Given the description of an element on the screen output the (x, y) to click on. 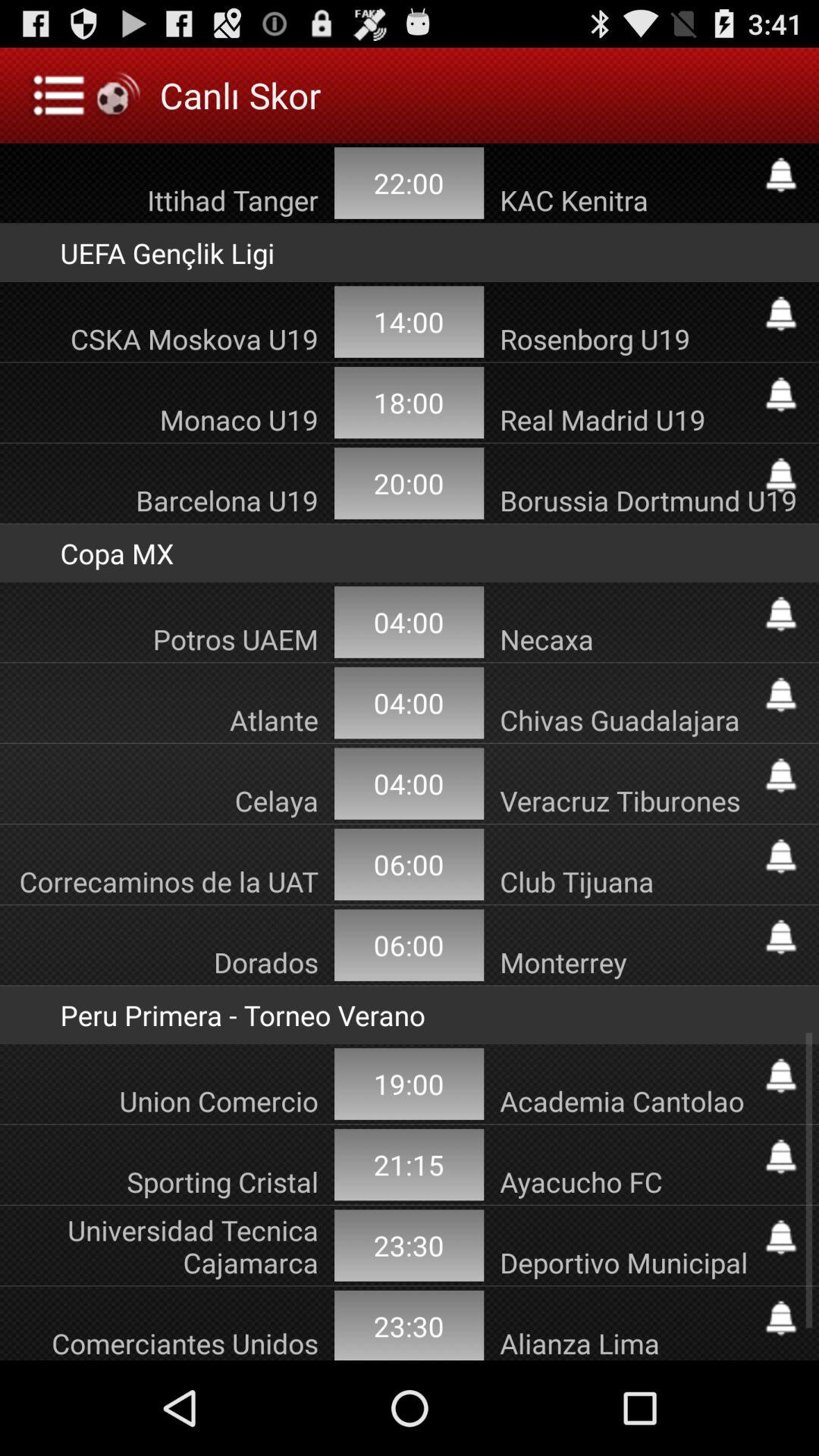
alert (780, 394)
